Given the description of an element on the screen output the (x, y) to click on. 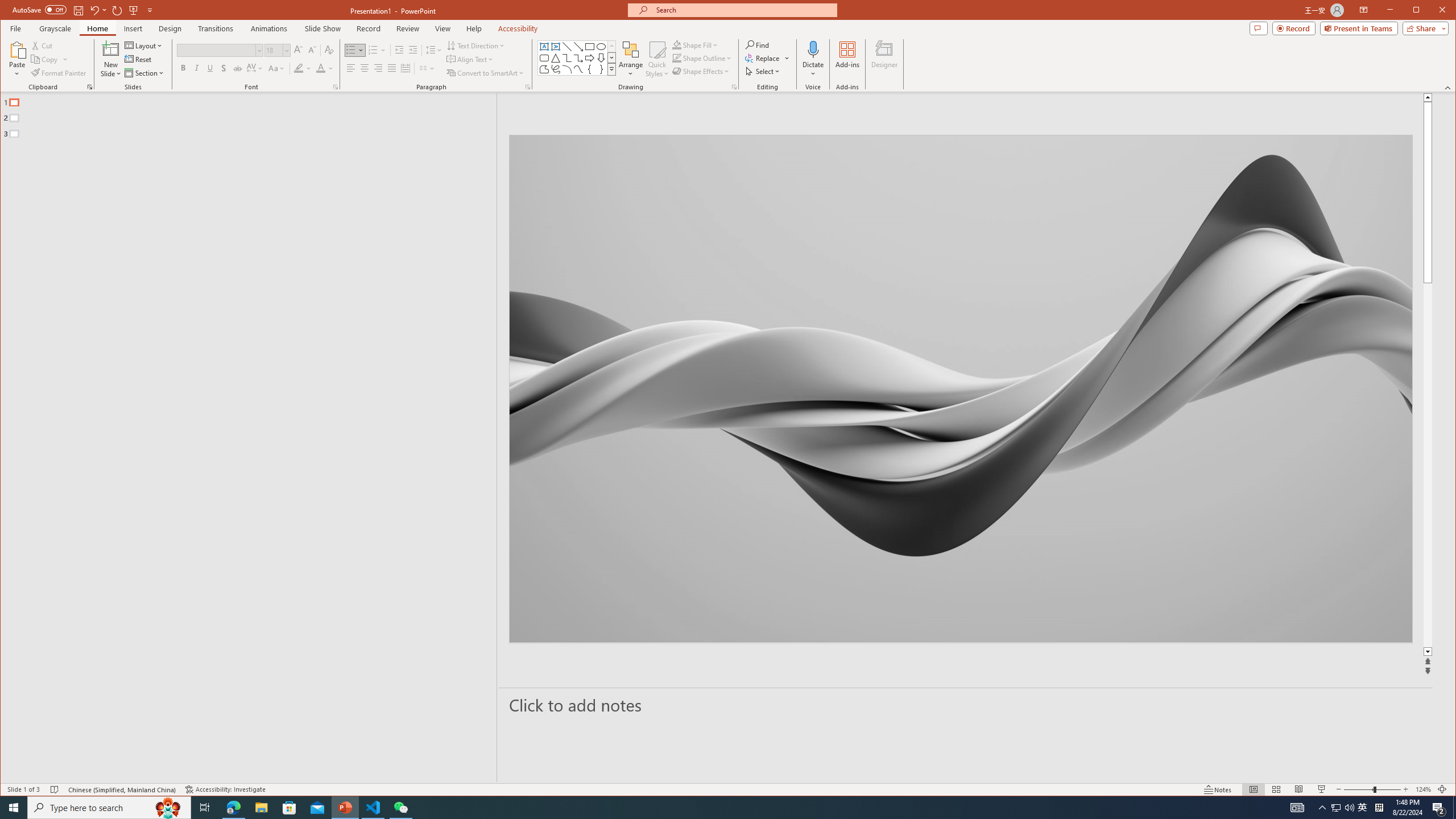
Zoom 124% (1422, 789)
